Given the description of an element on the screen output the (x, y) to click on. 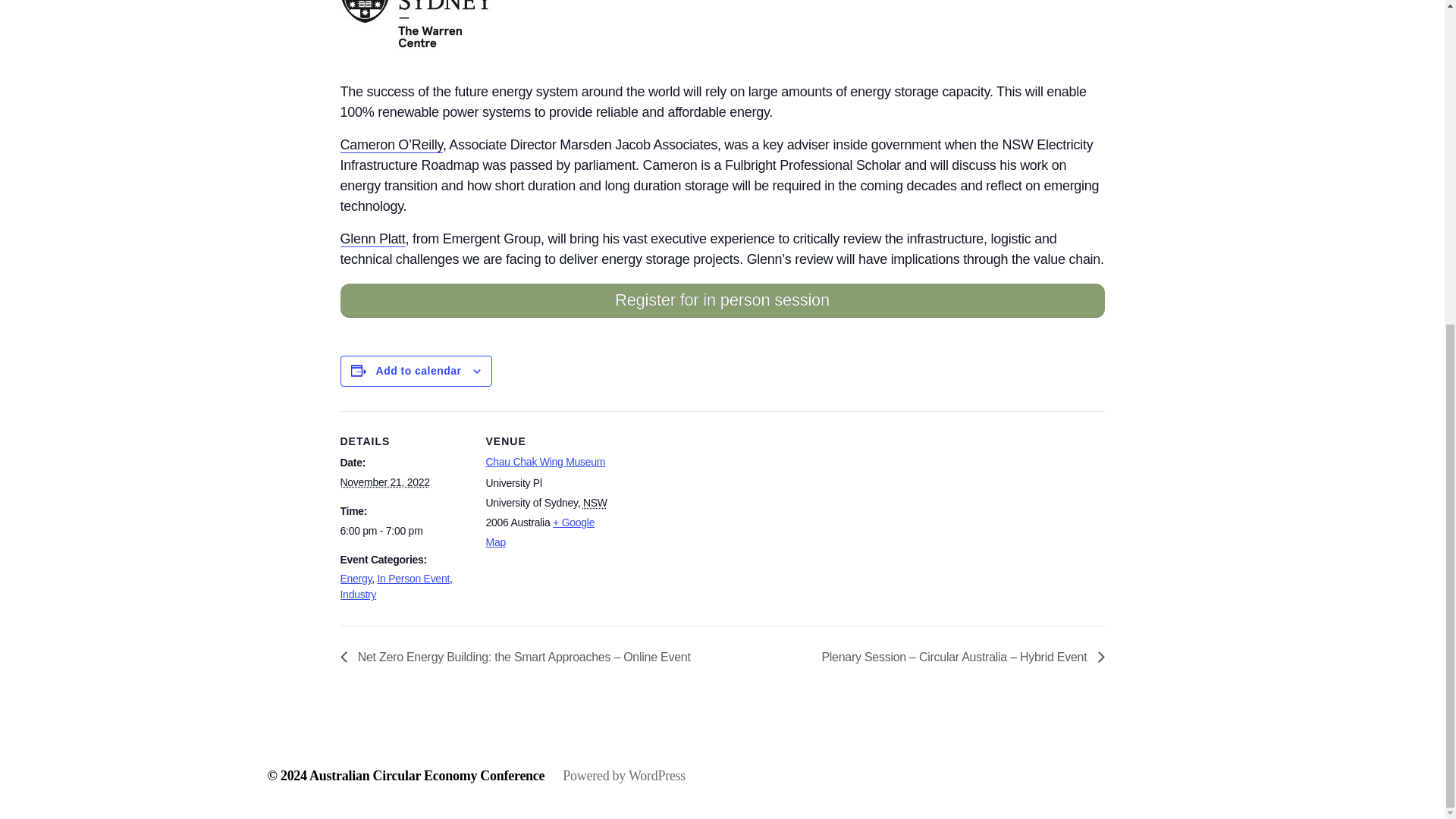
Glenn Platt (371, 238)
Register for in person session (721, 300)
Click to view a Google Map (539, 531)
Industry (357, 594)
2022-11-21 (403, 530)
In Person Event (413, 578)
Add to calendar (418, 370)
2022-11-21 (384, 481)
Energy (355, 578)
Chau Chak Wing Museum (544, 461)
